Given the description of an element on the screen output the (x, y) to click on. 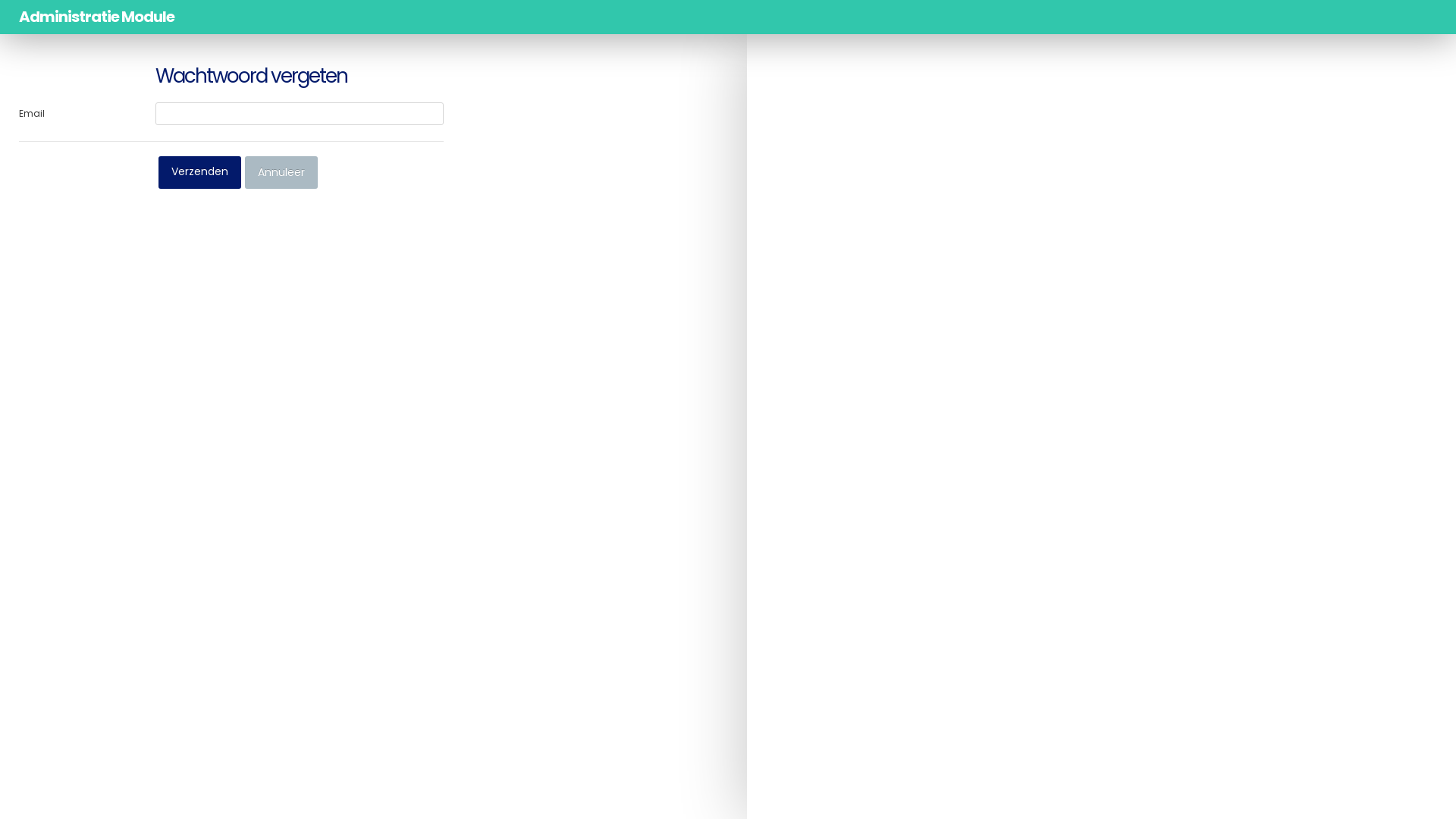
Verzenden Element type: text (199, 172)
Annuleer Element type: text (280, 172)
